Given the description of an element on the screen output the (x, y) to click on. 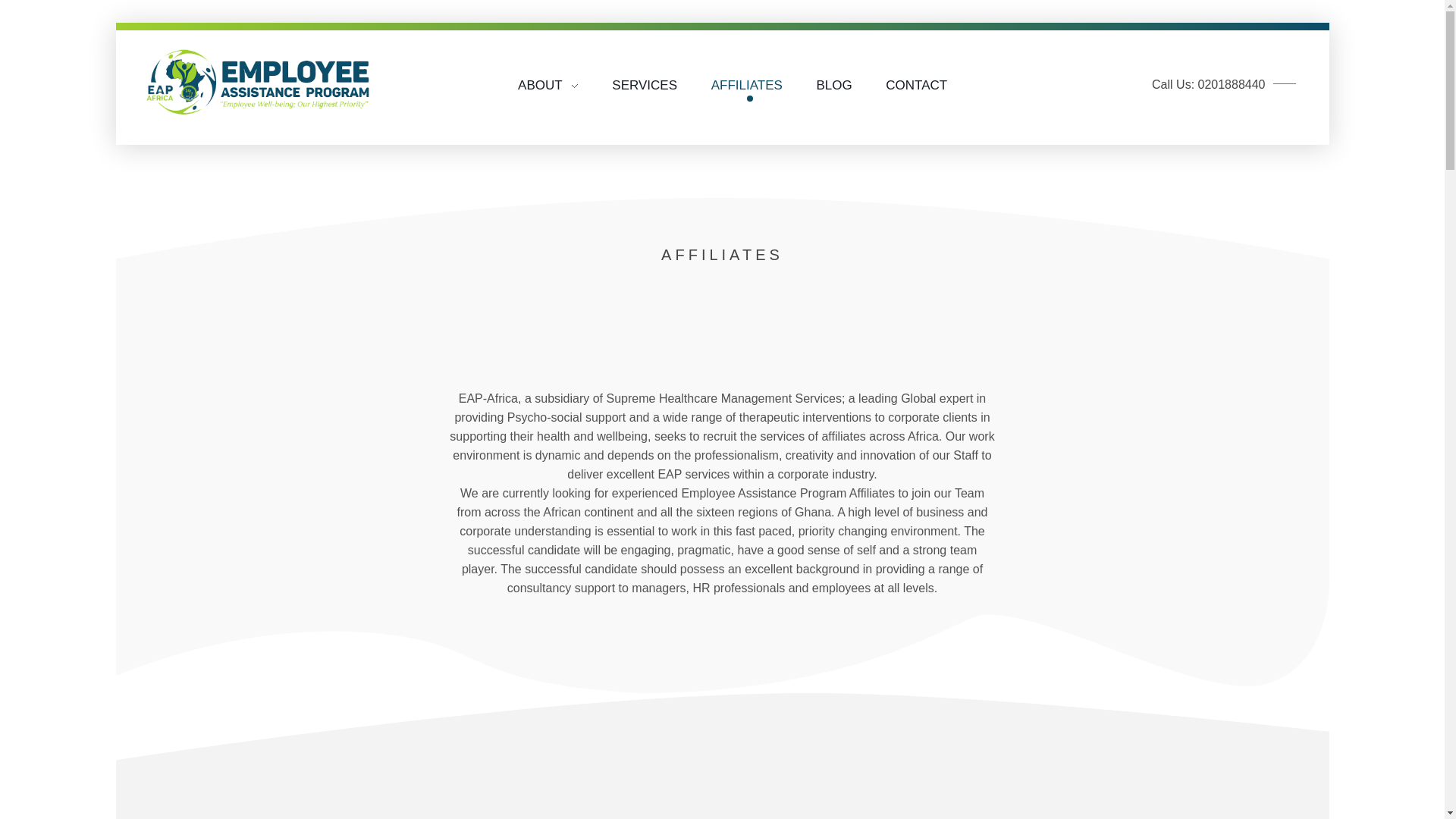
Call Us: 0201888440 (1224, 80)
EAP-Africa (259, 82)
EAP-Africa (188, 101)
AFFILIATES (746, 78)
BLOG (834, 79)
SERVICES (644, 76)
CONTACT (908, 81)
ABOUT (556, 63)
EAP-Africa (188, 128)
